Given the description of an element on the screen output the (x, y) to click on. 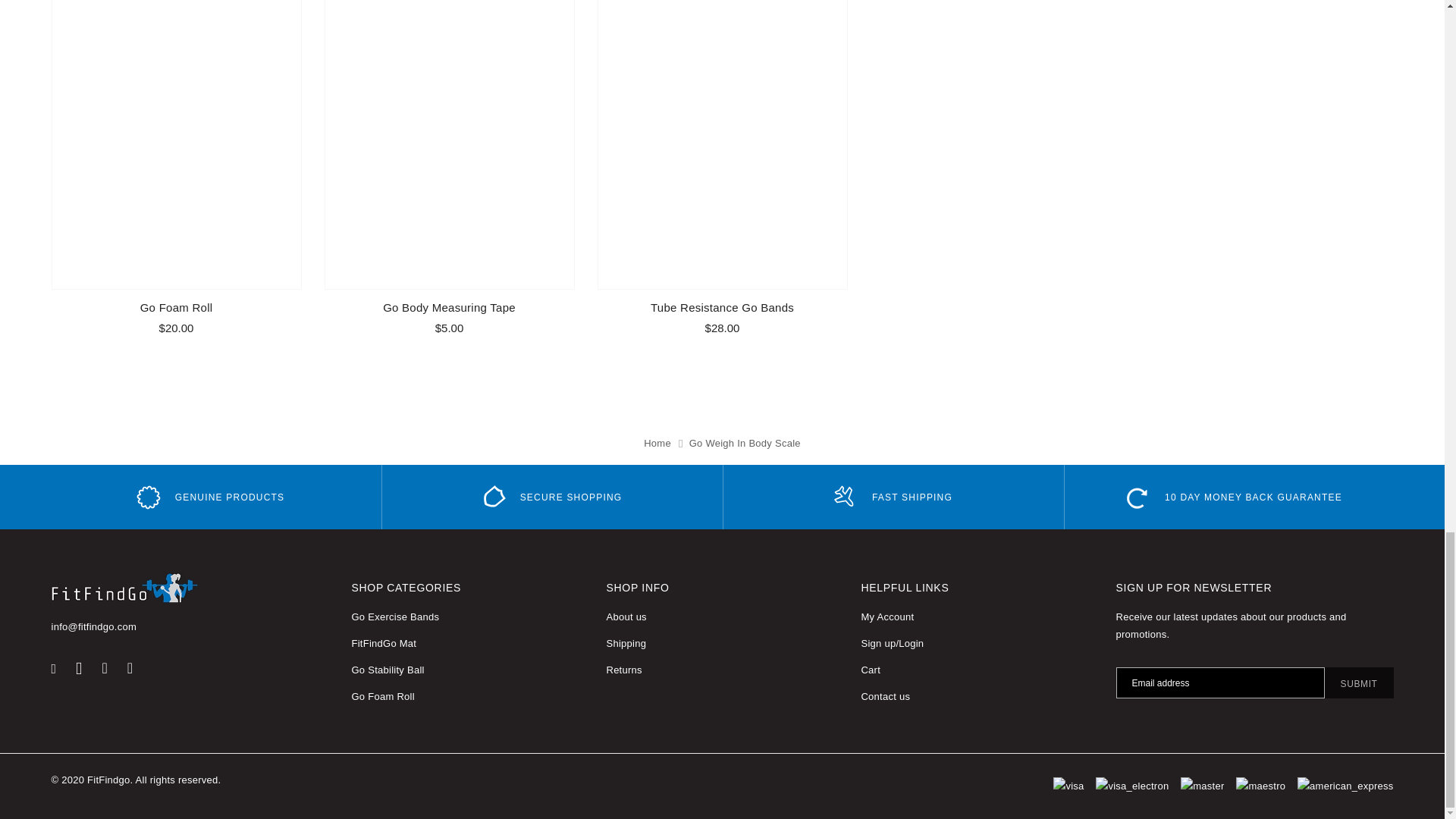
Submit (1358, 682)
